Given the description of an element on the screen output the (x, y) to click on. 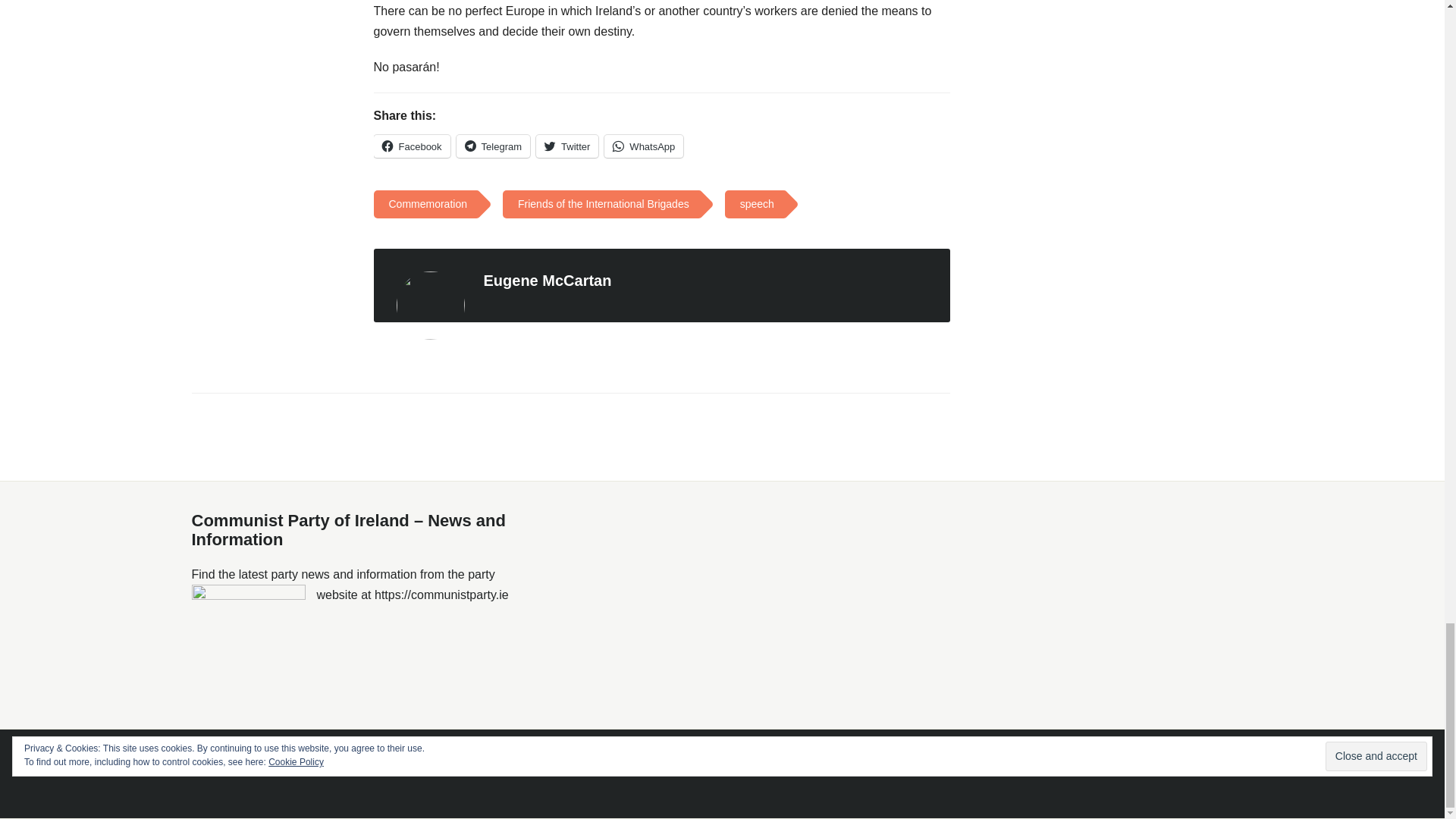
Click to share on Twitter (566, 146)
Posts by Eugene McCartan (547, 280)
Click to share on WhatsApp (643, 146)
Click to share on Facebook (410, 146)
Click to share on Telegram (493, 146)
